Given the description of an element on the screen output the (x, y) to click on. 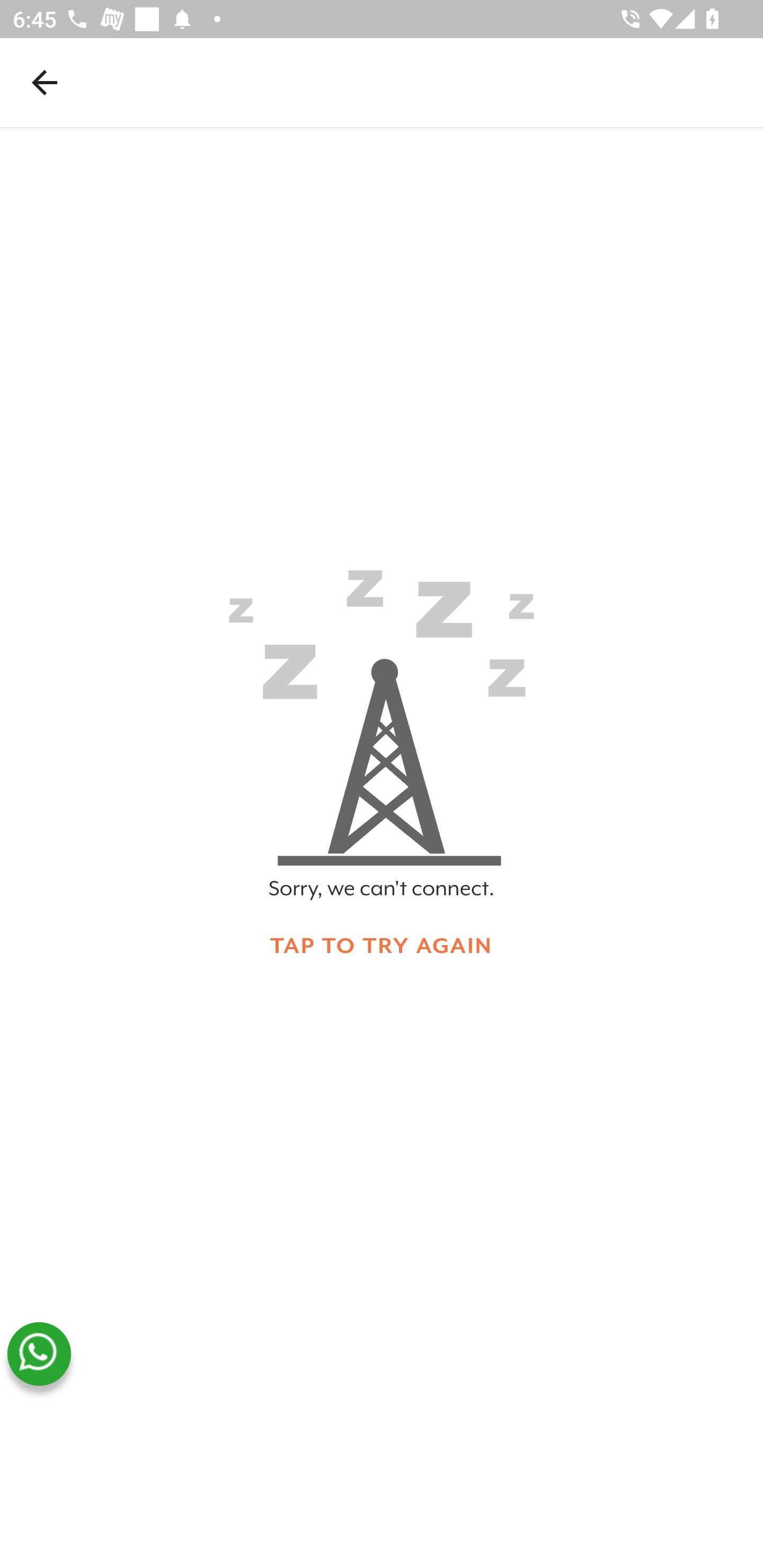
Navigate up (44, 82)
whatsapp (38, 1353)
